Given the description of an element on the screen output the (x, y) to click on. 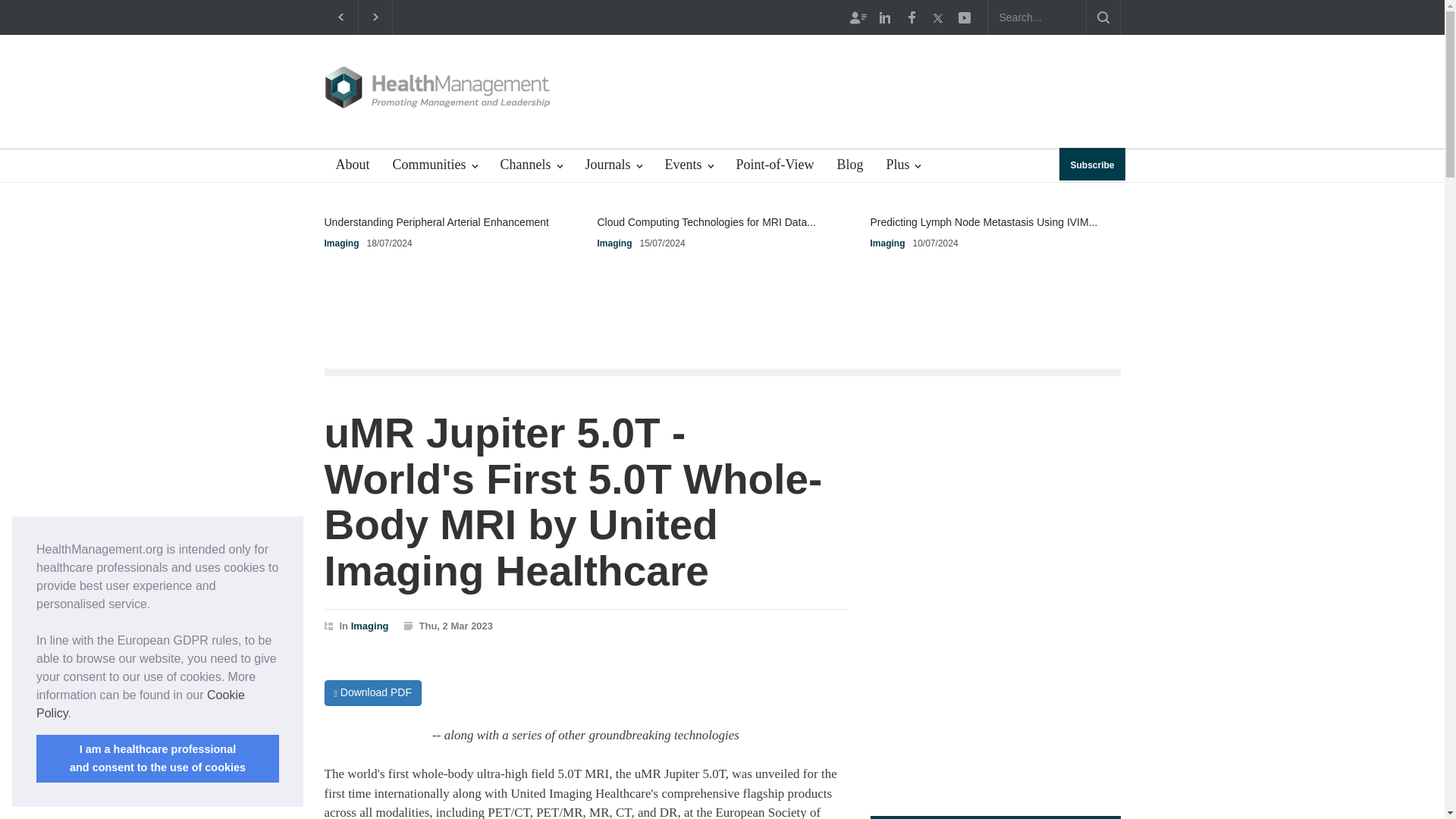
Channels (531, 165)
Communities (433, 165)
Search (1102, 17)
Right (374, 16)
mail (963, 16)
About (346, 165)
Journals (613, 165)
Events (689, 165)
3rd party ad content (845, 90)
Search text (1036, 17)
facebook (910, 16)
About (346, 165)
linkedin (884, 16)
left (341, 17)
